Given the description of an element on the screen output the (x, y) to click on. 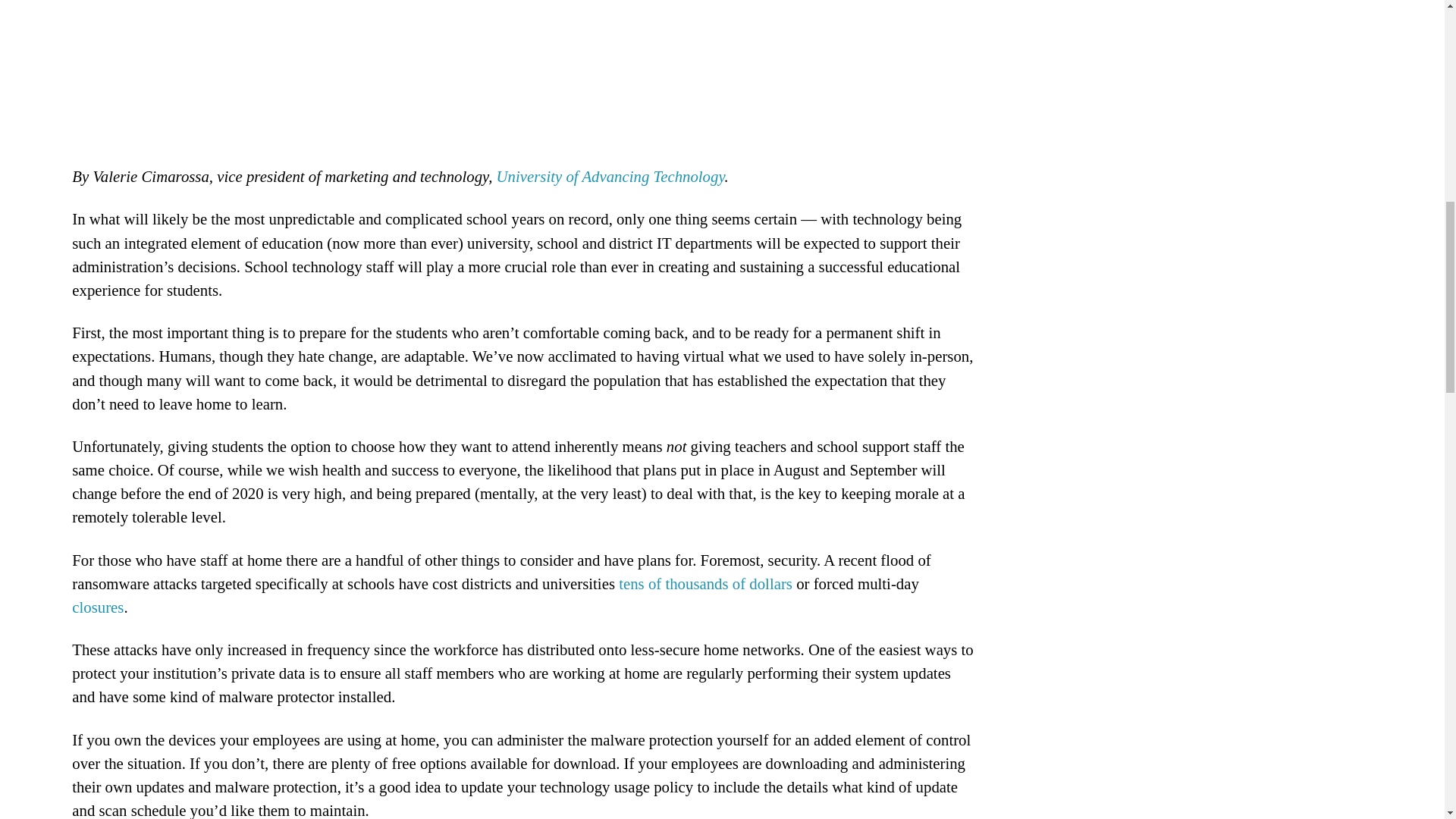
closures (97, 606)
University of Advancing Technology (610, 176)
tens of thousands of dollars (705, 583)
